Given the description of an element on the screen output the (x, y) to click on. 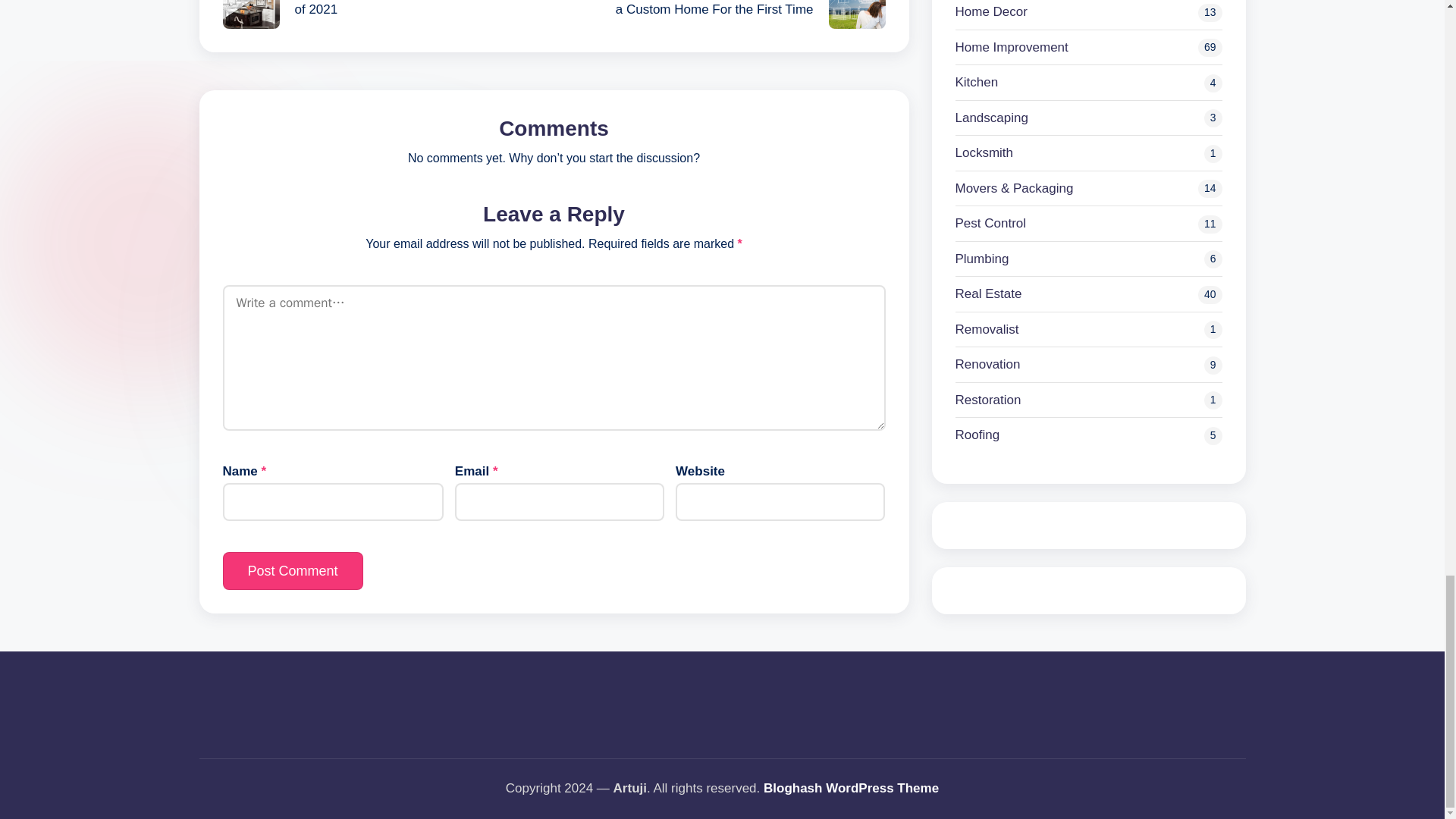
Post Comment (292, 570)
Our Favorite Home Improvement Trends of 2021 (388, 14)
Post Comment (292, 570)
